Given the description of an element on the screen output the (x, y) to click on. 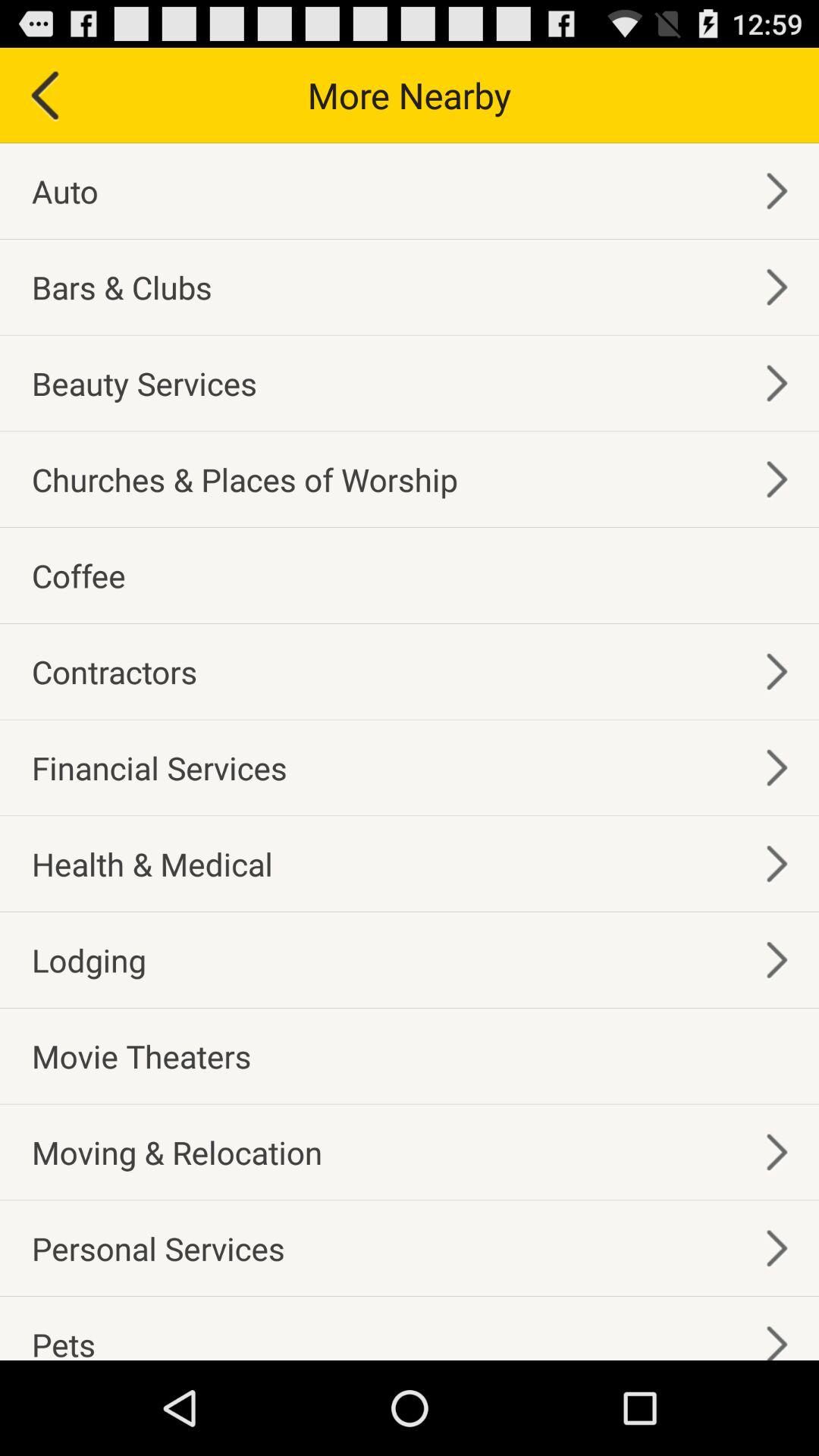
jump to financial services icon (159, 767)
